Given the description of an element on the screen output the (x, y) to click on. 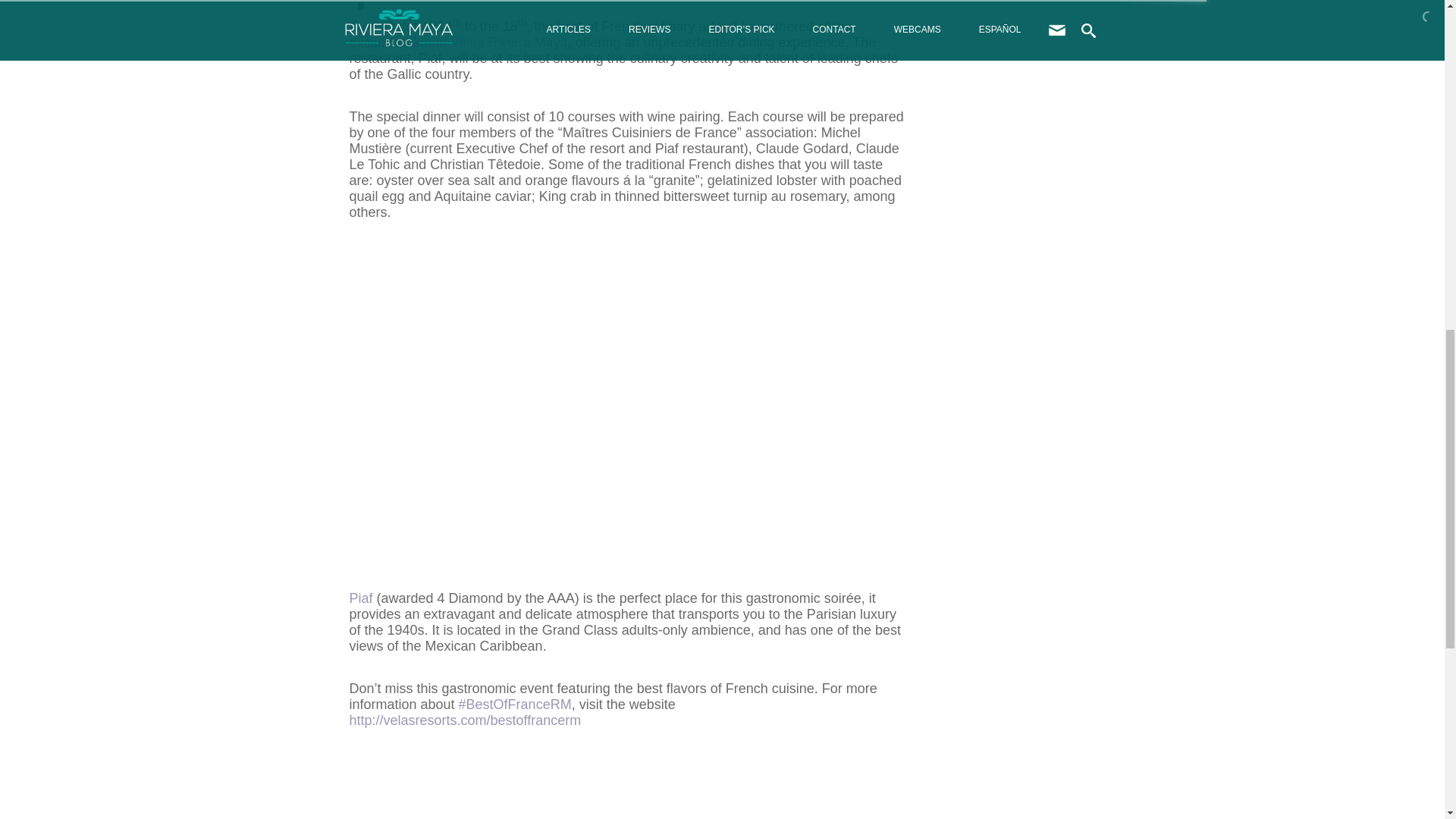
The Best Of France - Grand Velas Riviera Maya (626, 403)
Grand Velas Riviera Maya (488, 42)
Piaf (360, 598)
